Given the description of an element on the screen output the (x, y) to click on. 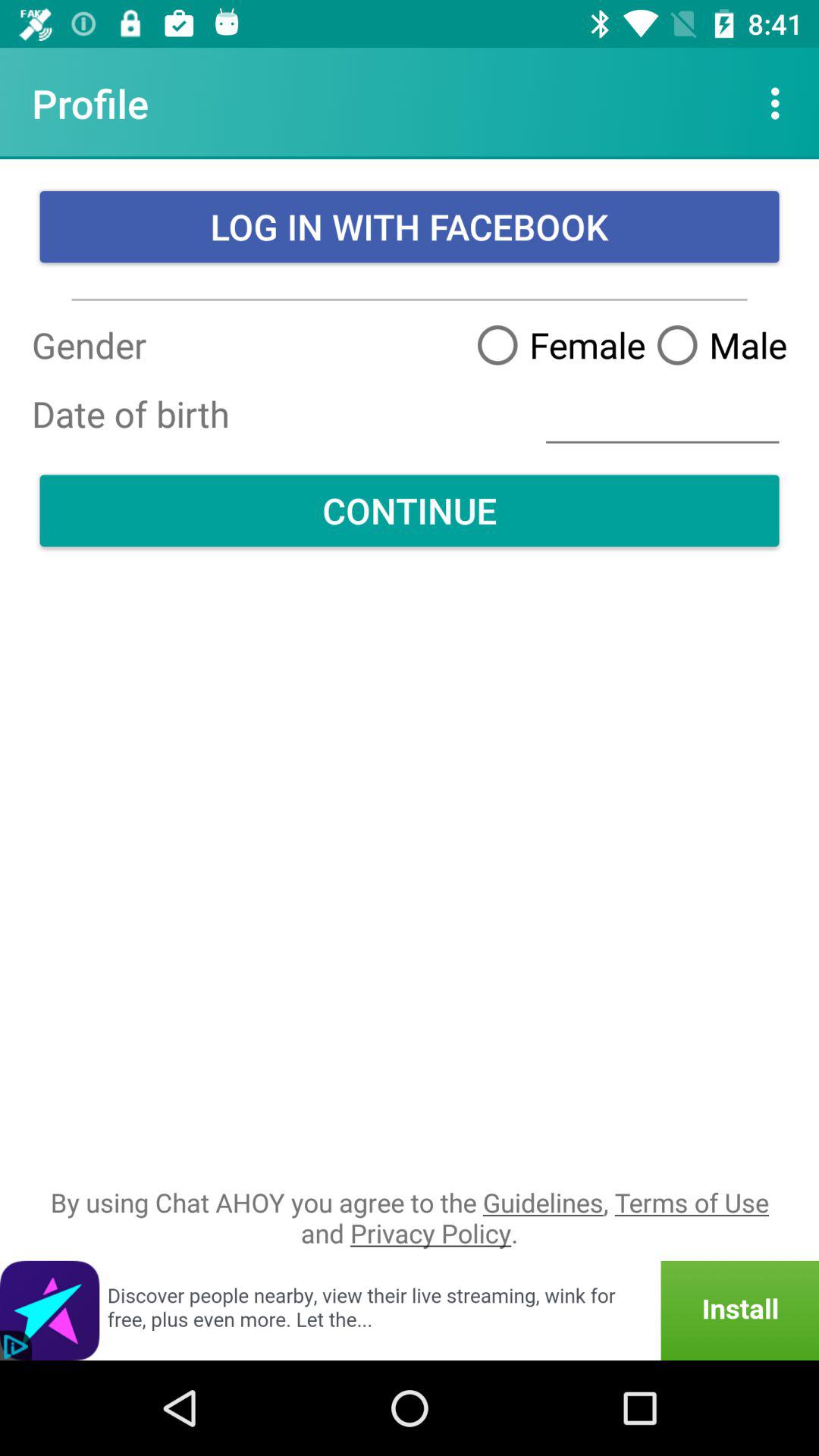
turn on the item next to profile item (779, 103)
